Given the description of an element on the screen output the (x, y) to click on. 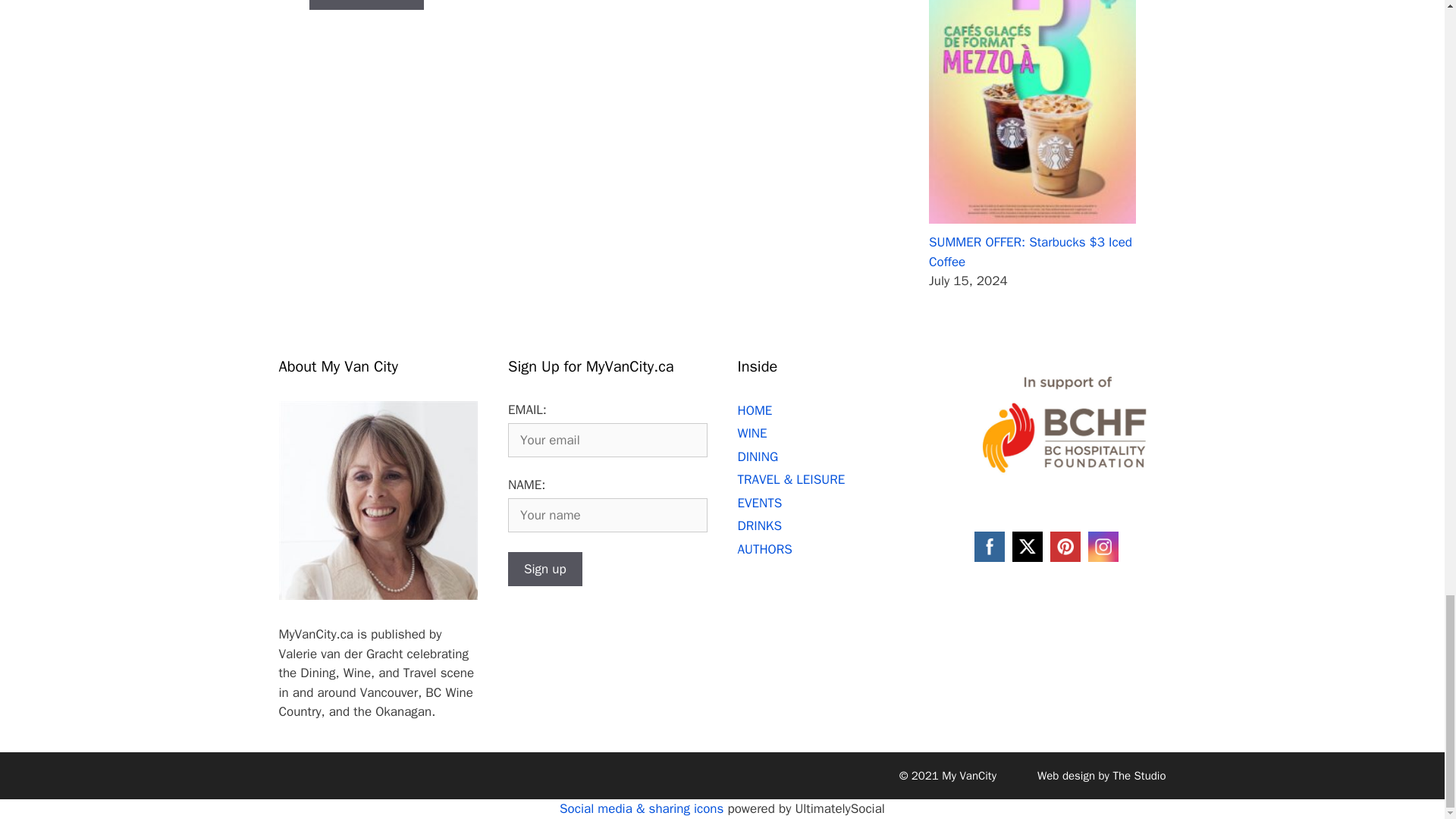
Sign up (545, 569)
Sign up (545, 569)
Twitter (1027, 546)
Facebook (989, 546)
Pinterest (1065, 546)
Post Comment (365, 4)
Post Comment (365, 4)
